Given the description of an element on the screen output the (x, y) to click on. 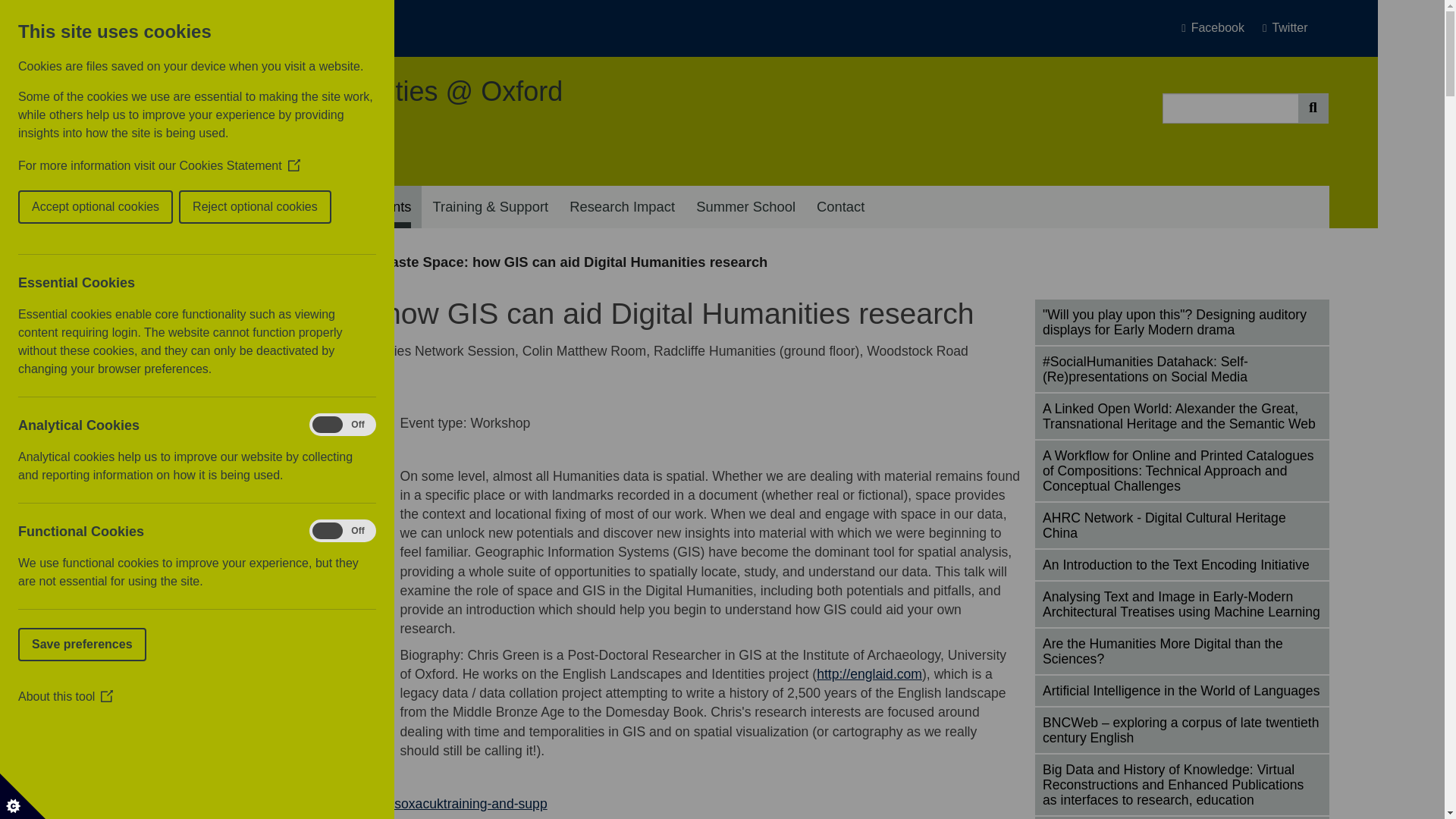
AHRC Network - Digital Cultural Heritage China (1182, 524)
Facebook (1218, 28)
Enter the terms you wish to search for (1229, 108)
Save preferences (15, 644)
Contact (840, 206)
Are the Humanities More Digital than the Sciences? (1182, 651)
Search (1312, 108)
